Given the description of an element on the screen output the (x, y) to click on. 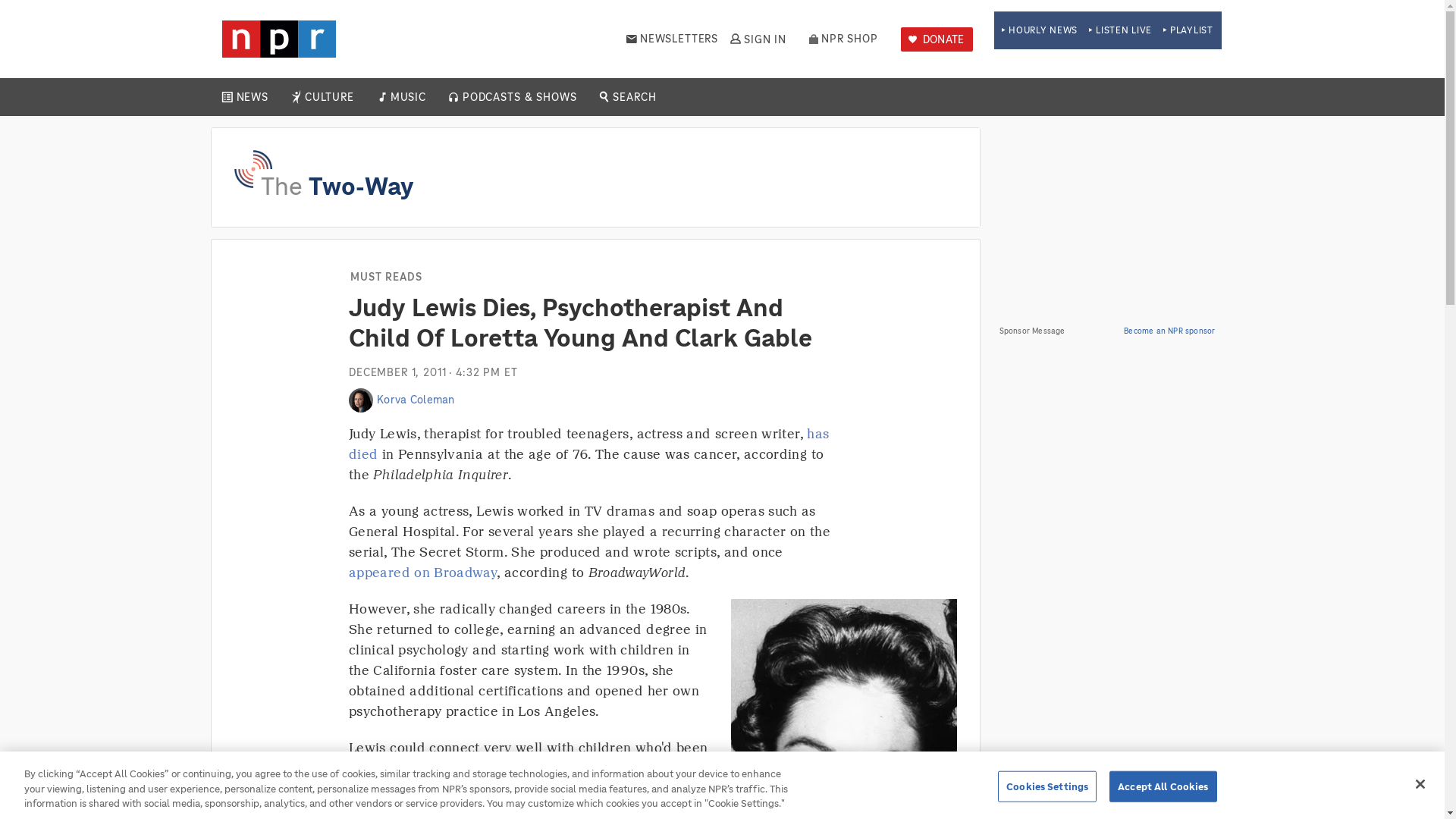
CULTURE (328, 96)
NEWSLETTERS (671, 38)
SIGN IN (757, 38)
HOURLY NEWS (1039, 30)
DONATE (936, 39)
MUSIC (407, 96)
PLAYLIST (1187, 30)
NPR SHOP (843, 38)
NEWS (251, 96)
LISTEN LIVE (1120, 30)
